Given the description of an element on the screen output the (x, y) to click on. 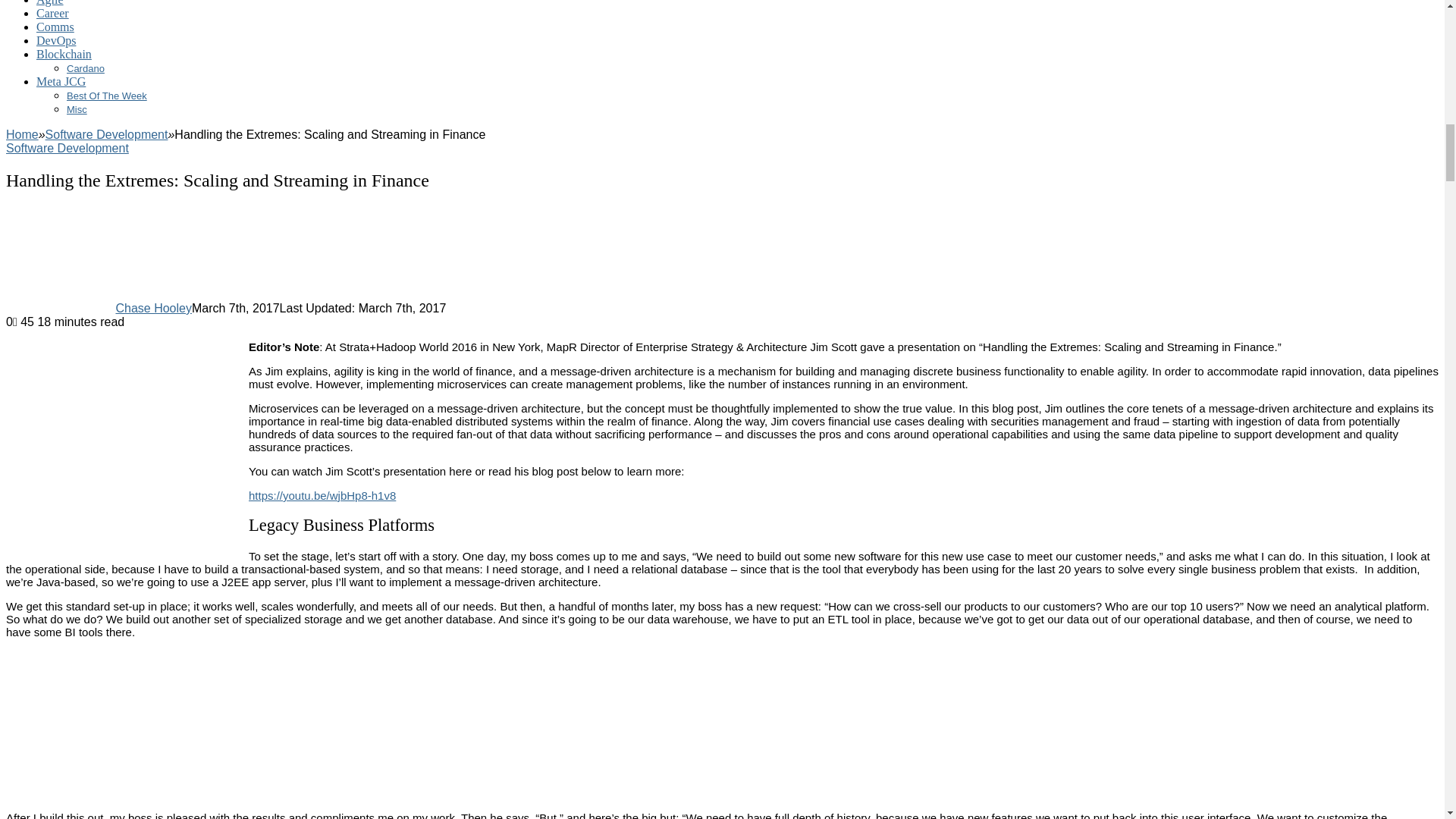
Chase Hooley (153, 308)
